Given the description of an element on the screen output the (x, y) to click on. 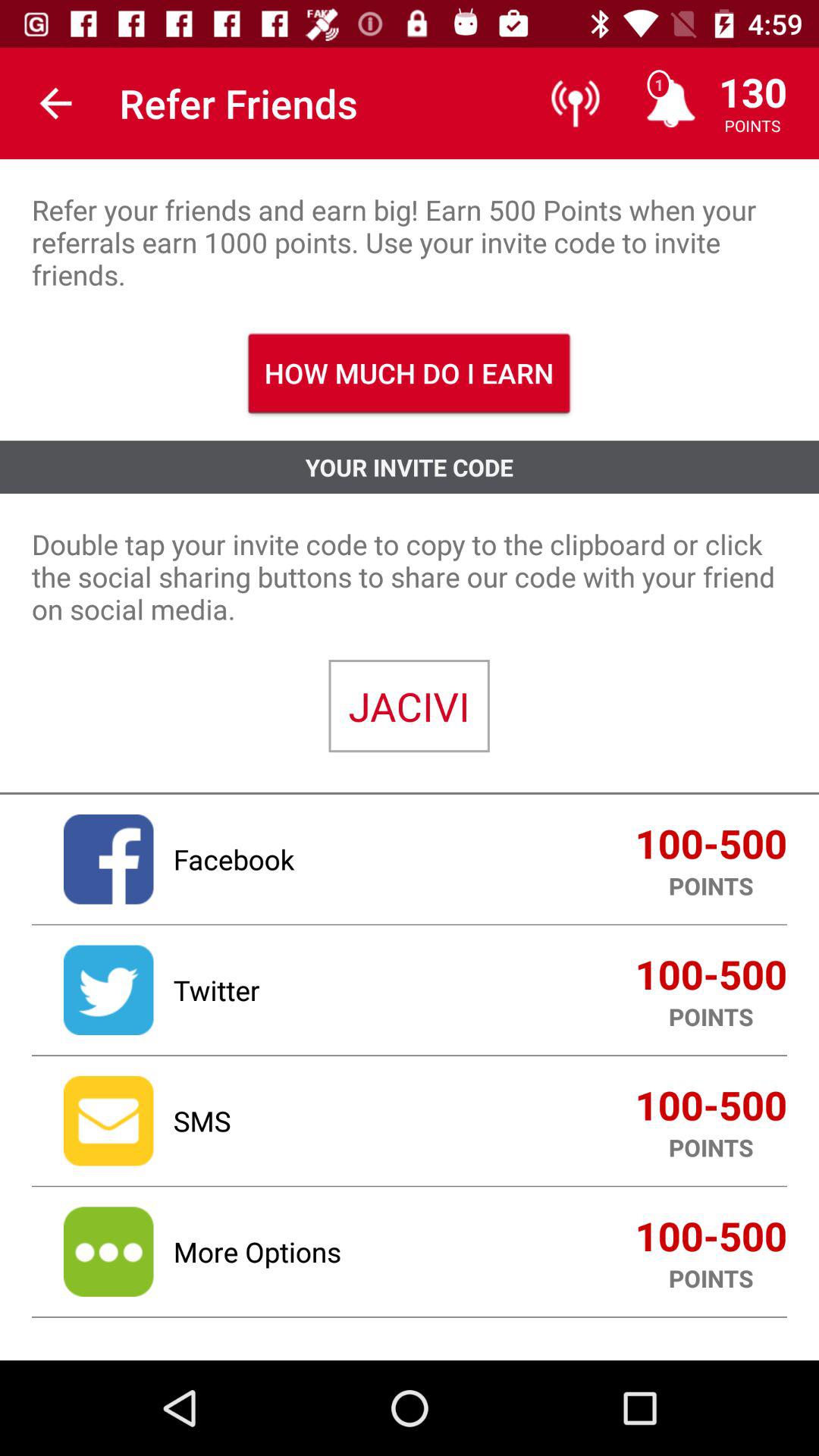
press the icon to the left of the refer friends app (55, 103)
